Given the description of an element on the screen output the (x, y) to click on. 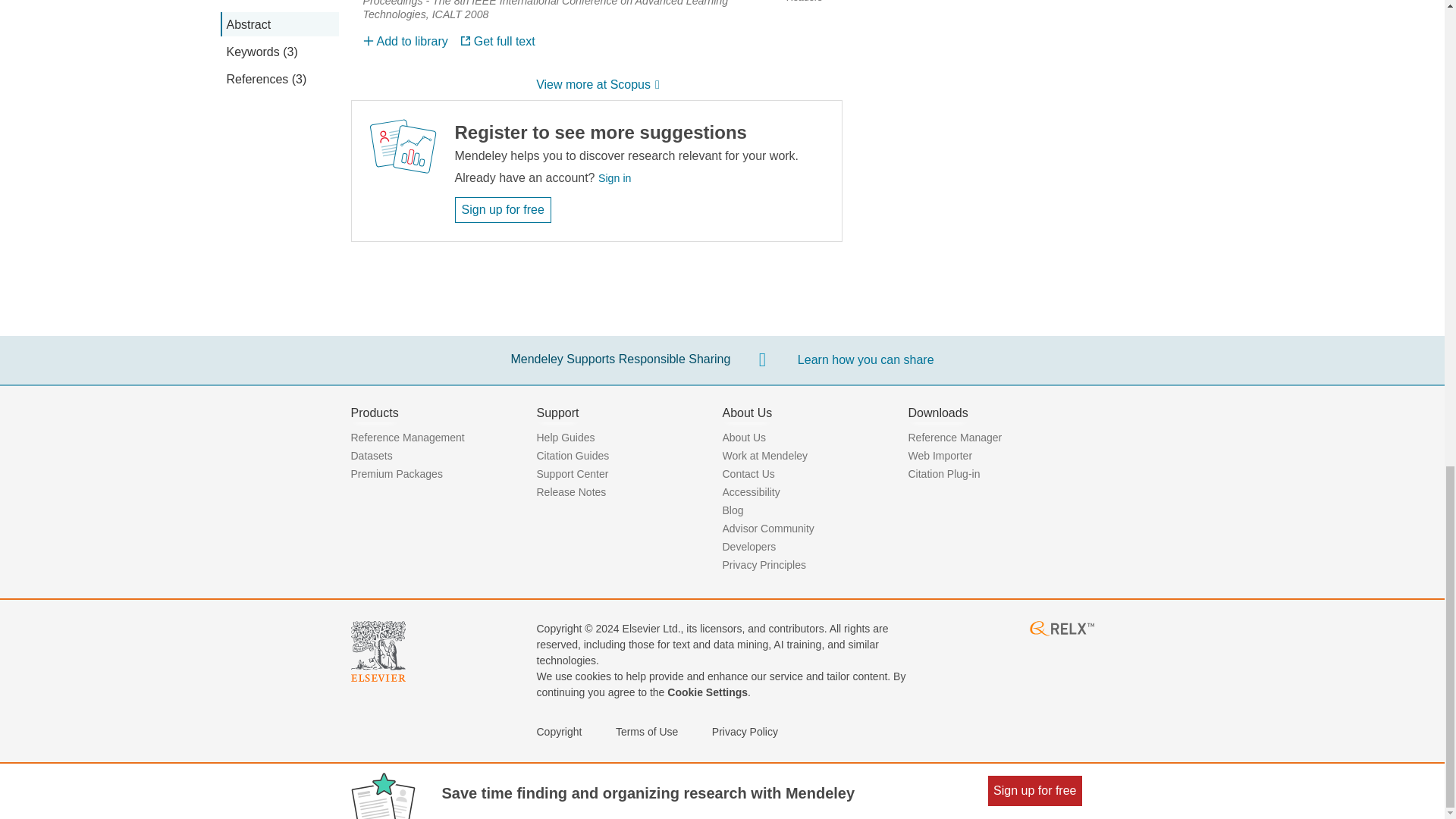
Add to library (404, 41)
Elsevier (378, 676)
Get full text (497, 41)
Learn how you can share (865, 360)
Datasets (370, 455)
View more at Scopus (596, 86)
Go to RELX Group Homepage (1061, 631)
Sign up for free (502, 209)
Sign in (614, 177)
Premium Packages (396, 473)
